Given the description of an element on the screen output the (x, y) to click on. 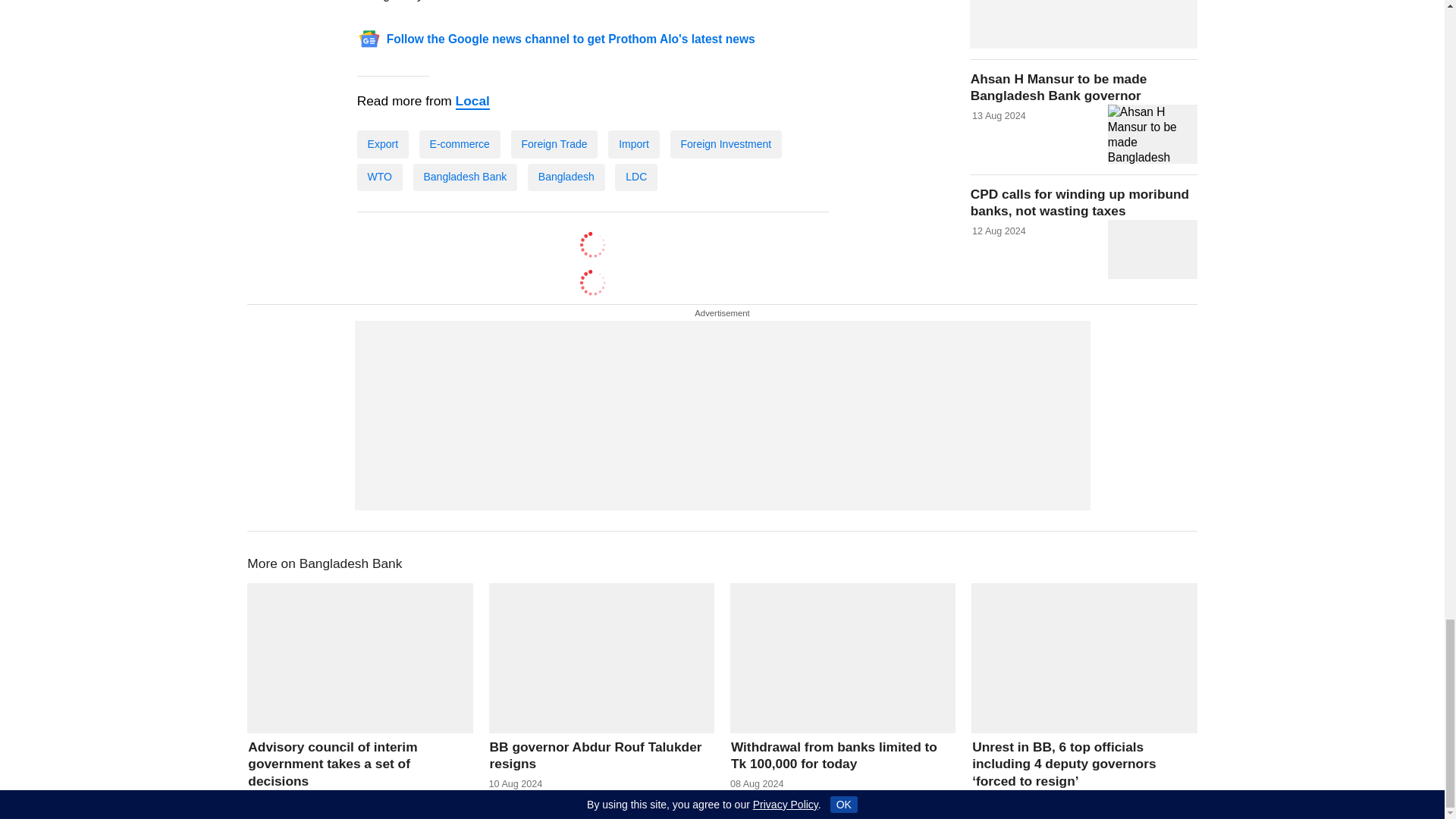
WTO (379, 176)
Bangladesh Bank (464, 176)
LDC (636, 176)
Bangladesh (566, 176)
Foreign Investment (726, 144)
Local (472, 101)
E-commerce (459, 144)
Import (633, 144)
Foreign Trade (554, 144)
